Given the description of an element on the screen output the (x, y) to click on. 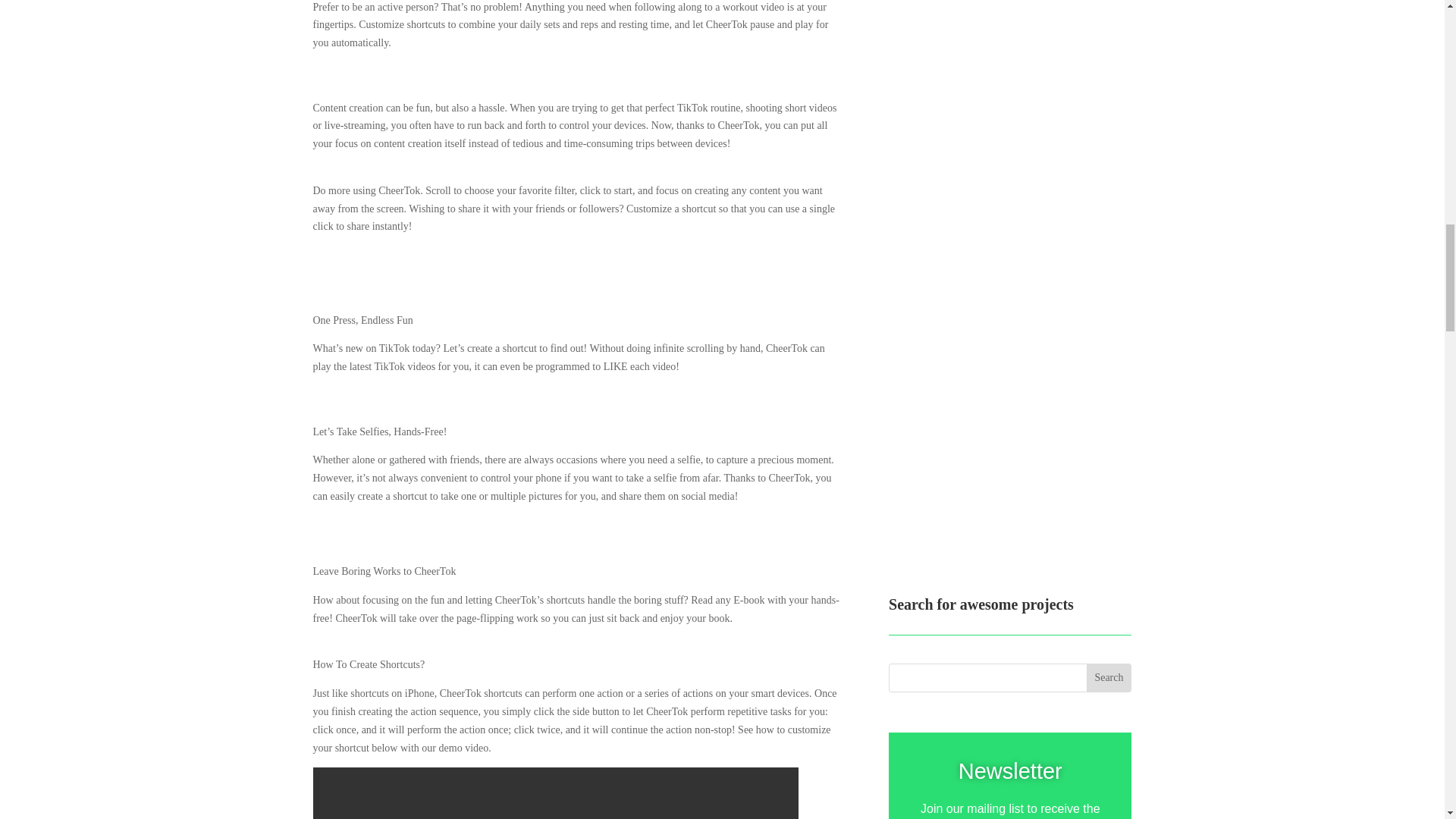
Search (1108, 677)
Search (1108, 677)
Search (1108, 677)
